Given the description of an element on the screen output the (x, y) to click on. 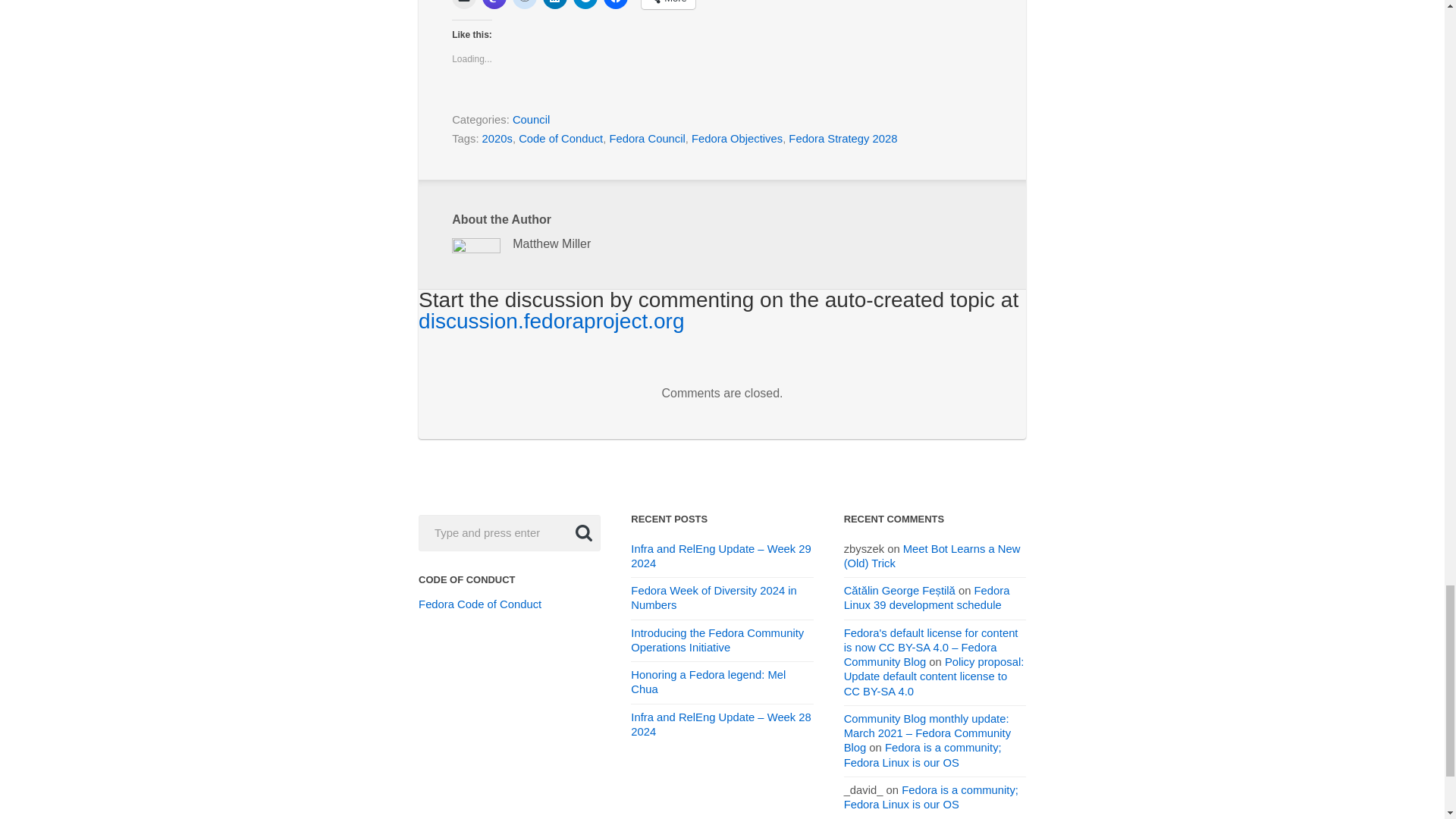
Type and press enter (509, 529)
Type and press enter (509, 529)
